Given the description of an element on the screen output the (x, y) to click on. 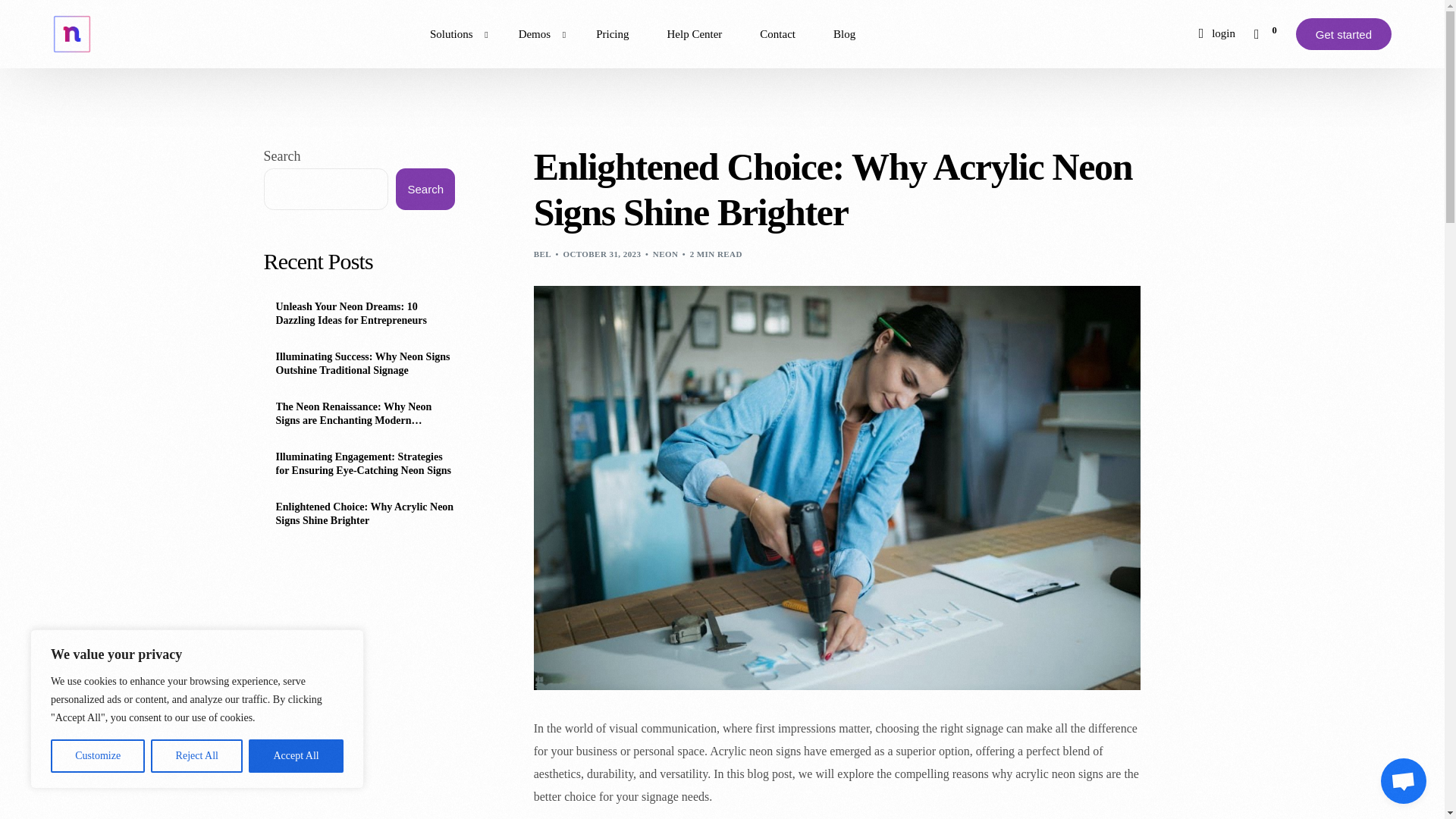
Search (425, 188)
BEL (542, 253)
Demos (538, 33)
NEON (665, 253)
Blog (844, 33)
Solutions (454, 33)
Get started (1343, 33)
Contact (777, 33)
Customize (97, 756)
Reject All (197, 756)
Pricing (611, 33)
Posts by Bel (542, 253)
Accept All (295, 756)
